Given the description of an element on the screen output the (x, y) to click on. 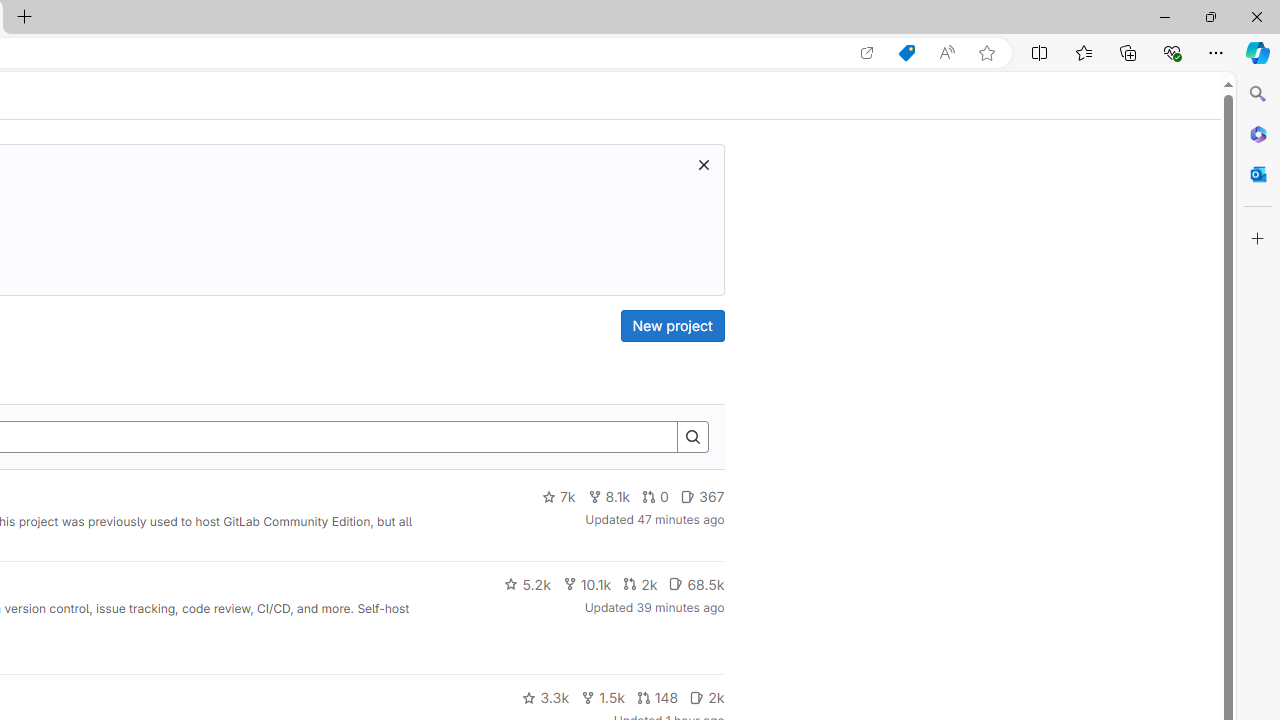
1.5k (602, 697)
Class: s16 gl-icon gl-button-icon  (703, 164)
